Given the description of an element on the screen output the (x, y) to click on. 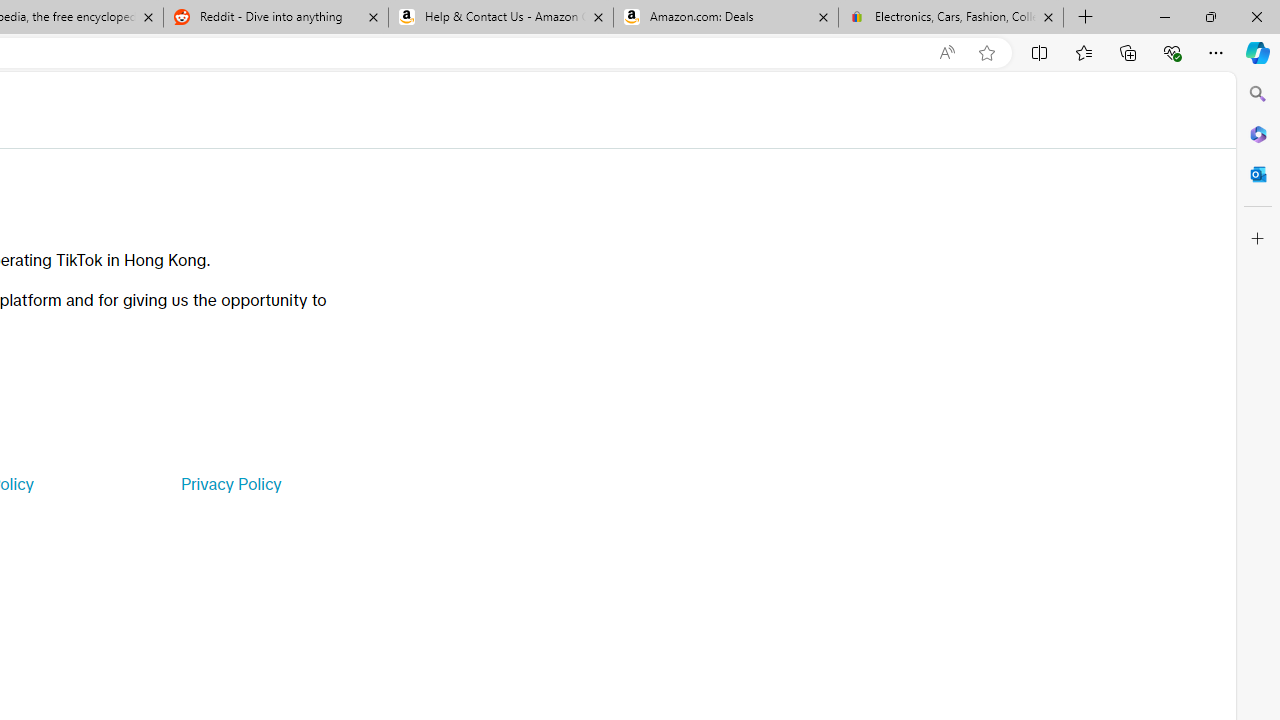
Privacy Policy (230, 484)
Reddit - Dive into anything (275, 17)
Help & Contact Us - Amazon Customer Service (501, 17)
